Given the description of an element on the screen output the (x, y) to click on. 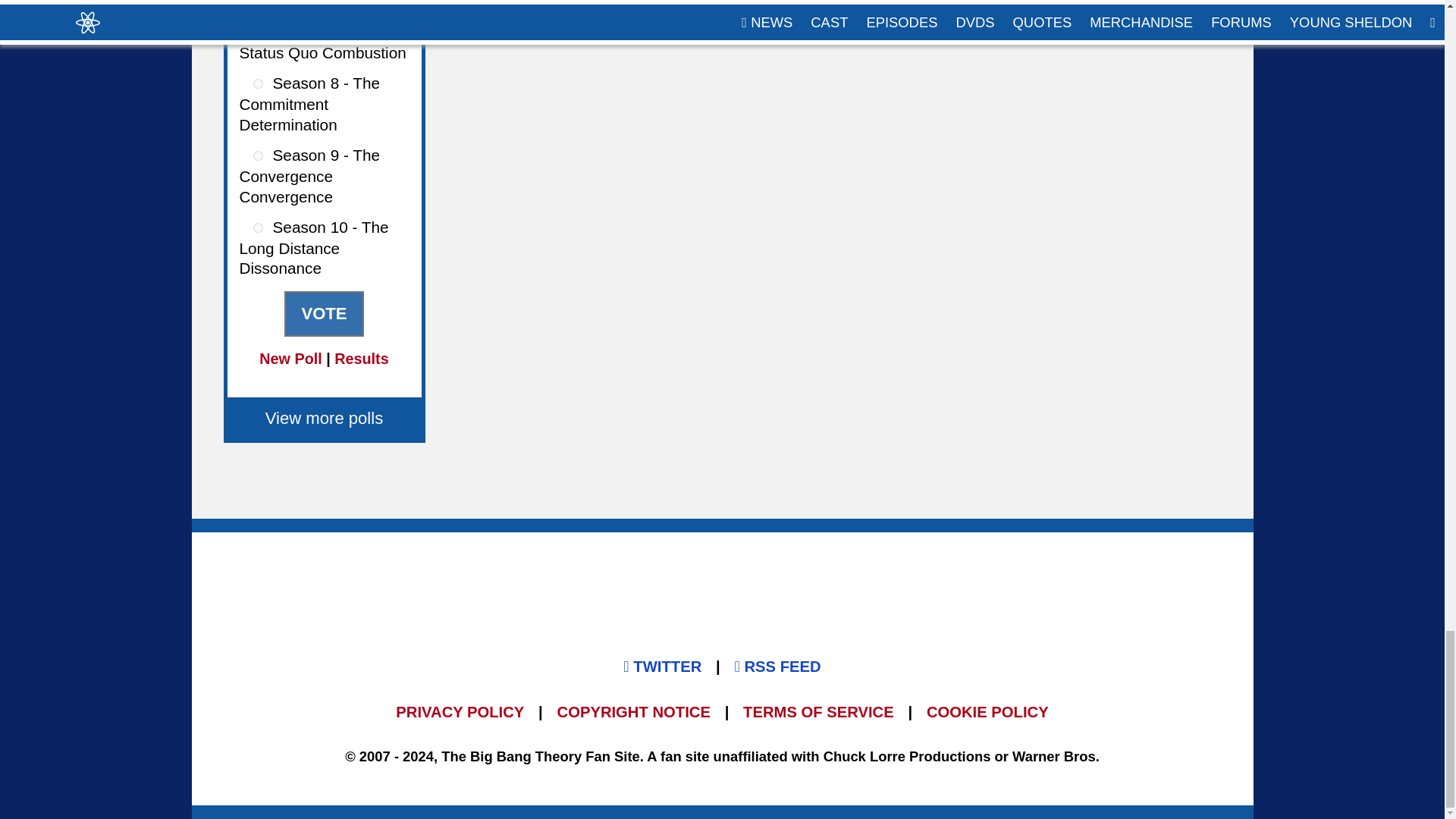
10 (258, 226)
Vote (322, 313)
9 (258, 155)
8 (258, 83)
7 (258, 31)
